Given the description of an element on the screen output the (x, y) to click on. 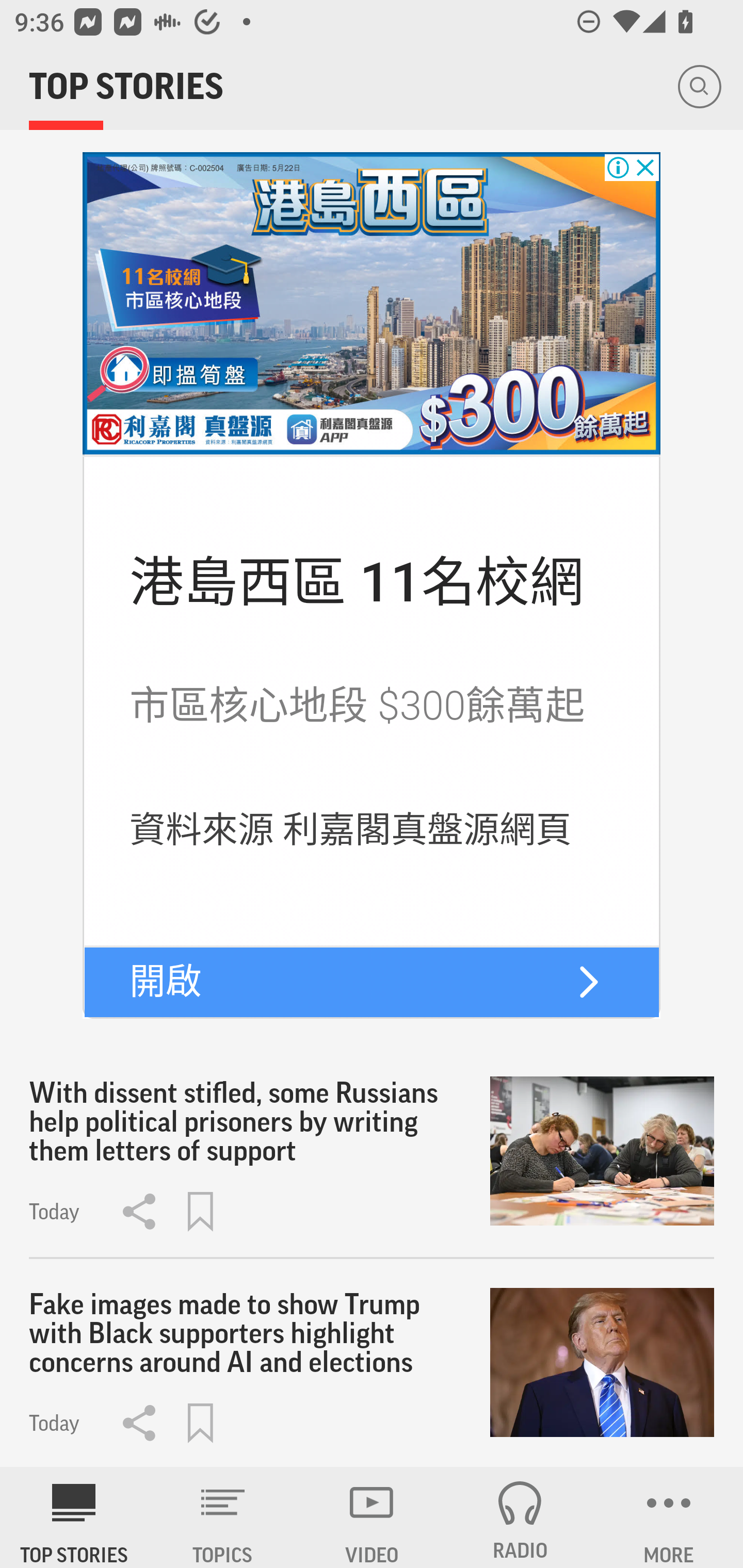
港島西區 11名校網 (356, 582)
資料來源 利嘉閣真盤源網頁 (351, 829)
開啟 (165, 981)
AP News TOP STORIES (74, 1517)
TOPICS (222, 1517)
VIDEO (371, 1517)
RADIO (519, 1517)
MORE (668, 1517)
